Given the description of an element on the screen output the (x, y) to click on. 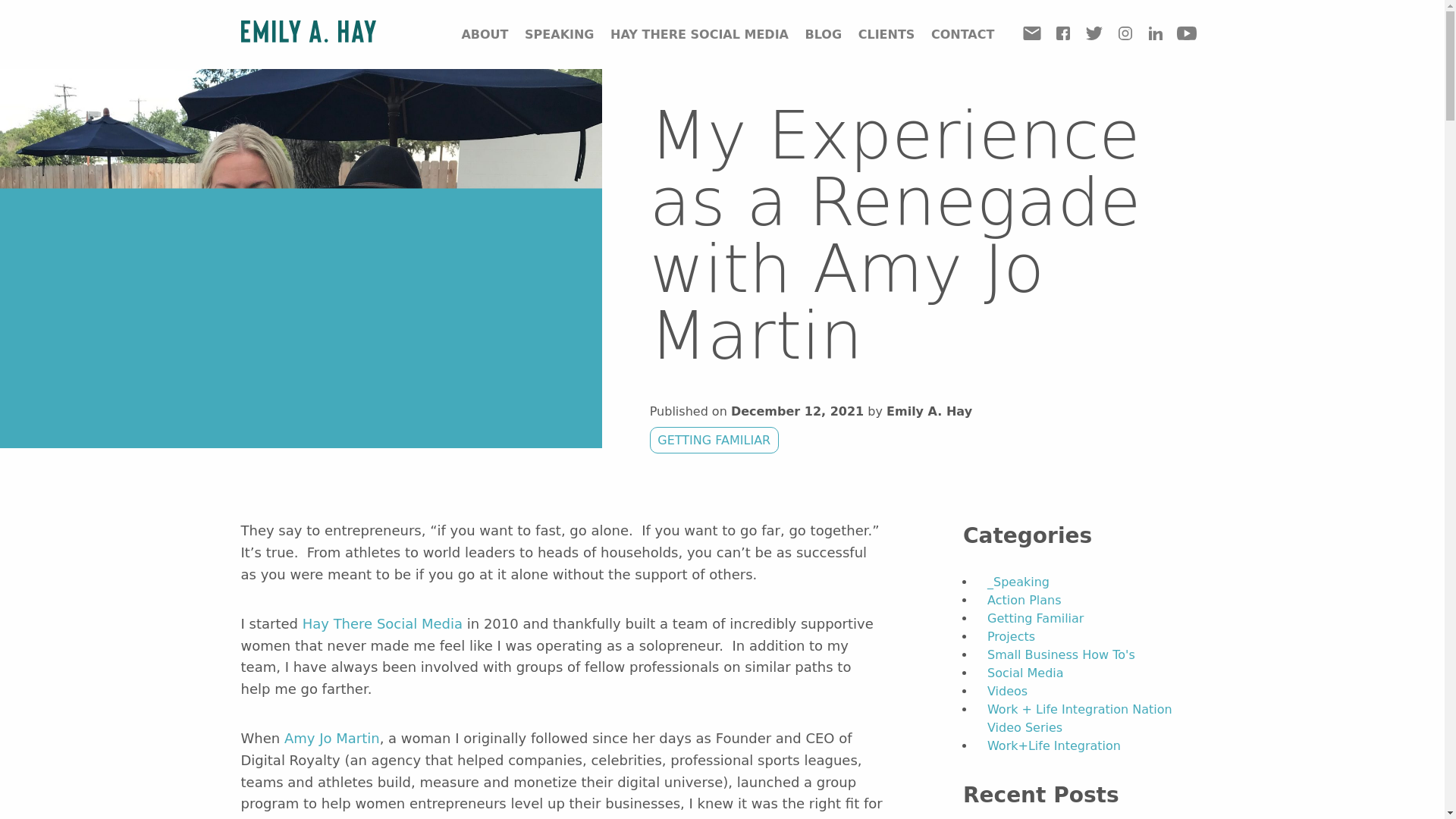
Amy Jo Martin (331, 738)
CONTACT (962, 34)
CLIENTS (887, 34)
CONTACT (962, 34)
Social Media (1025, 672)
GETTING FAMILIAR (713, 440)
SPEAKING (559, 34)
Projects (1011, 636)
Getting Familiar (1035, 617)
CLIENTS (887, 34)
